Given the description of an element on the screen output the (x, y) to click on. 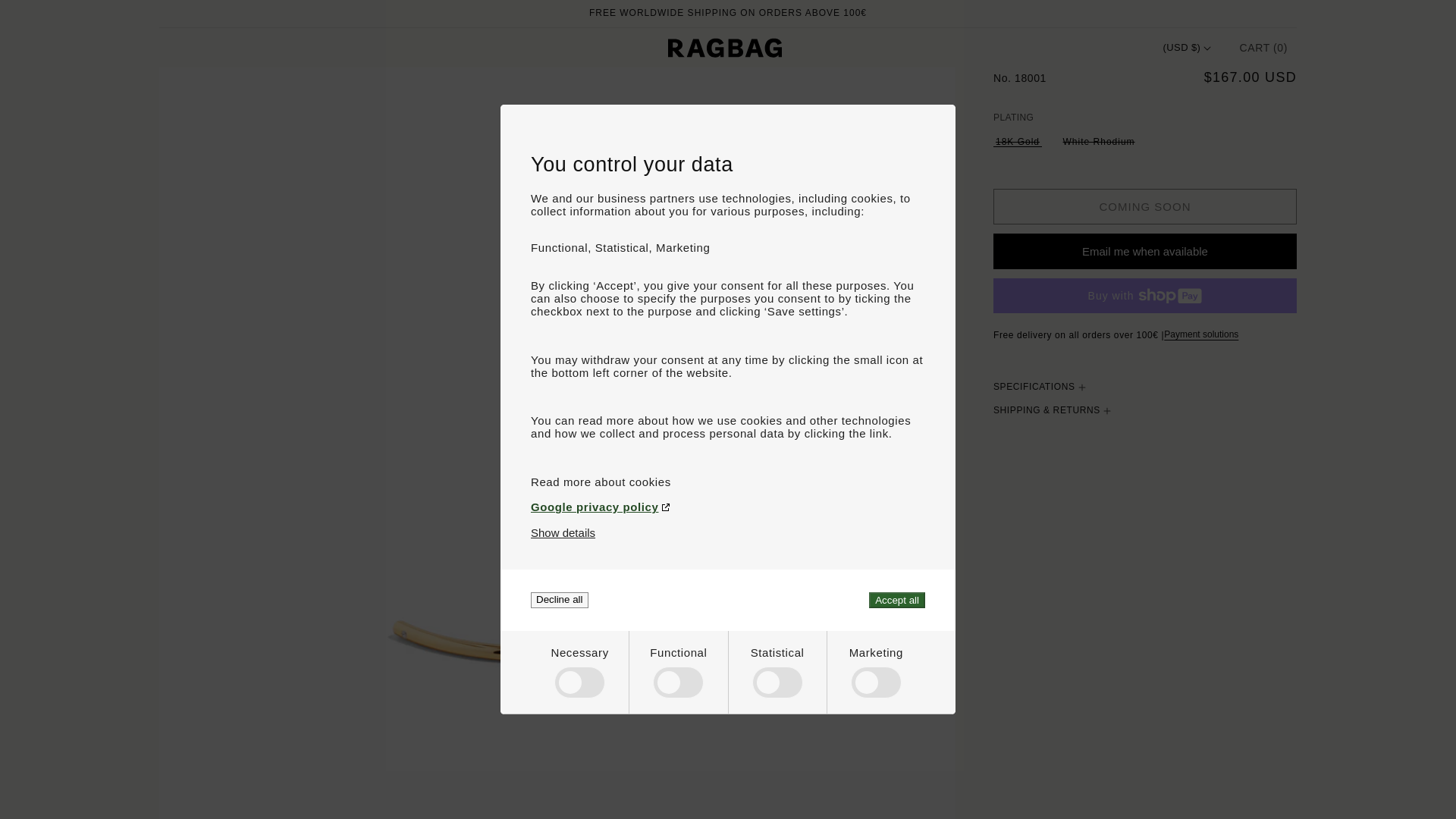
Google privacy policy (727, 506)
Read more about cookies (727, 481)
Show details (563, 532)
